Given the description of an element on the screen output the (x, y) to click on. 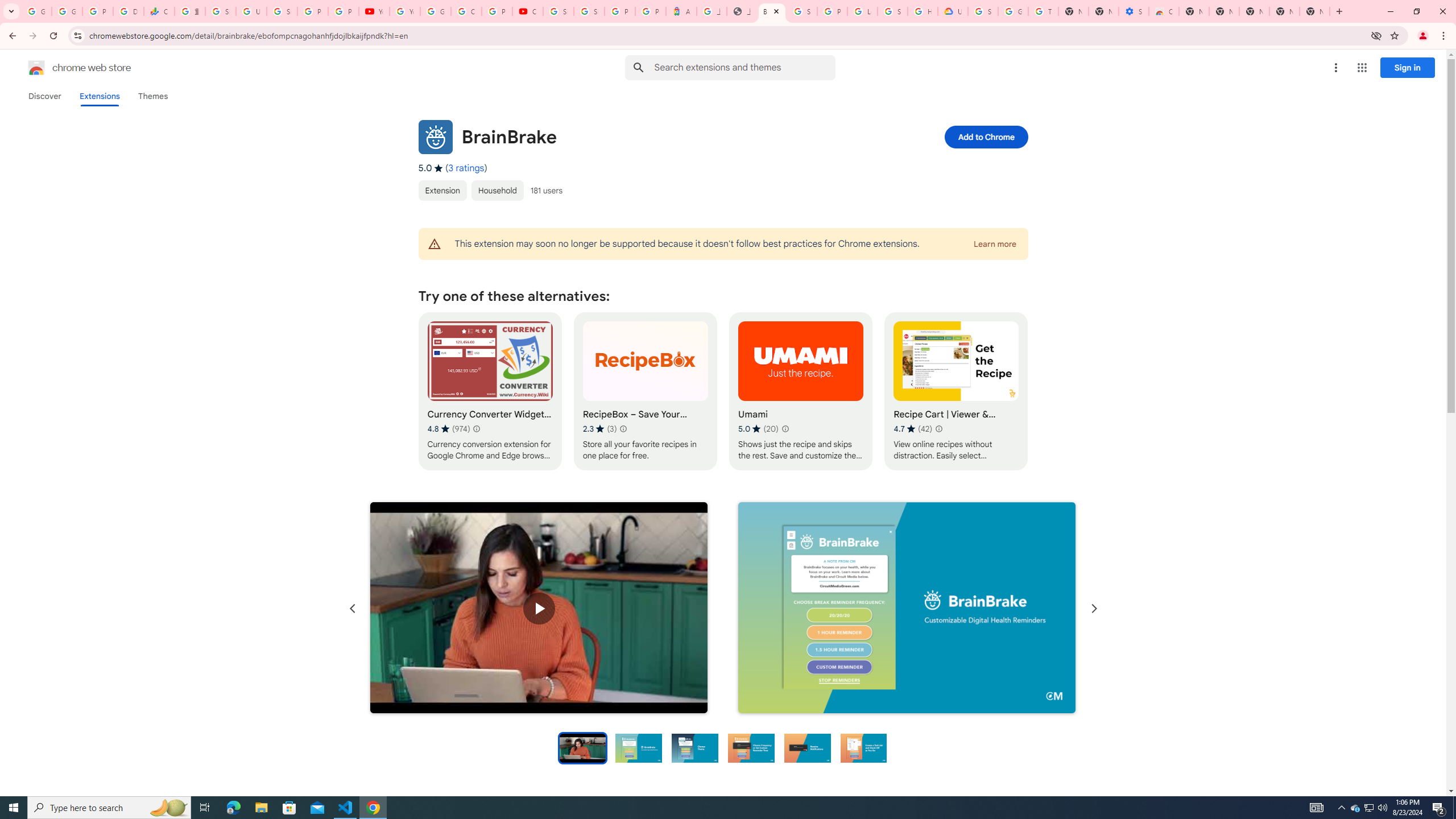
Item media 2 screenshot (906, 607)
Themes (152, 95)
Add to Chrome (985, 136)
YouTube (373, 11)
Chrome Web Store - Accessibility extensions (1163, 11)
Search input (744, 67)
Discover (43, 95)
